Given the description of an element on the screen output the (x, y) to click on. 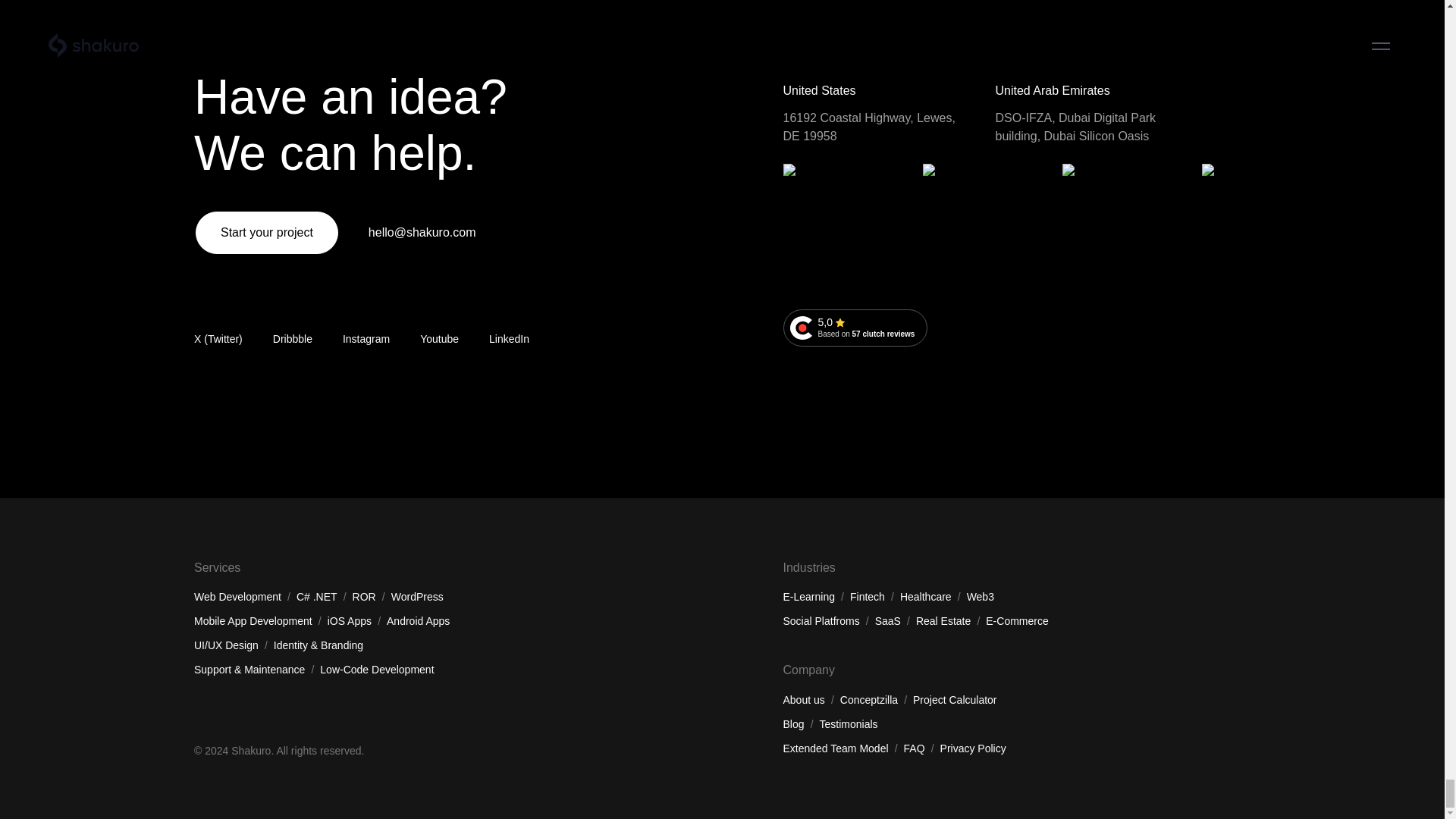
LinkedIn (509, 339)
ROR (363, 18)
WordPress (417, 18)
Instagram (366, 339)
LinkedIn (509, 339)
Dribbble (293, 339)
Youtube (439, 339)
Web Development (237, 18)
Start your project (266, 232)
Instagram (366, 339)
Youtube (439, 339)
Dribbble (855, 327)
Mobile App Development (293, 339)
ROR (253, 42)
